Given the description of an element on the screen output the (x, y) to click on. 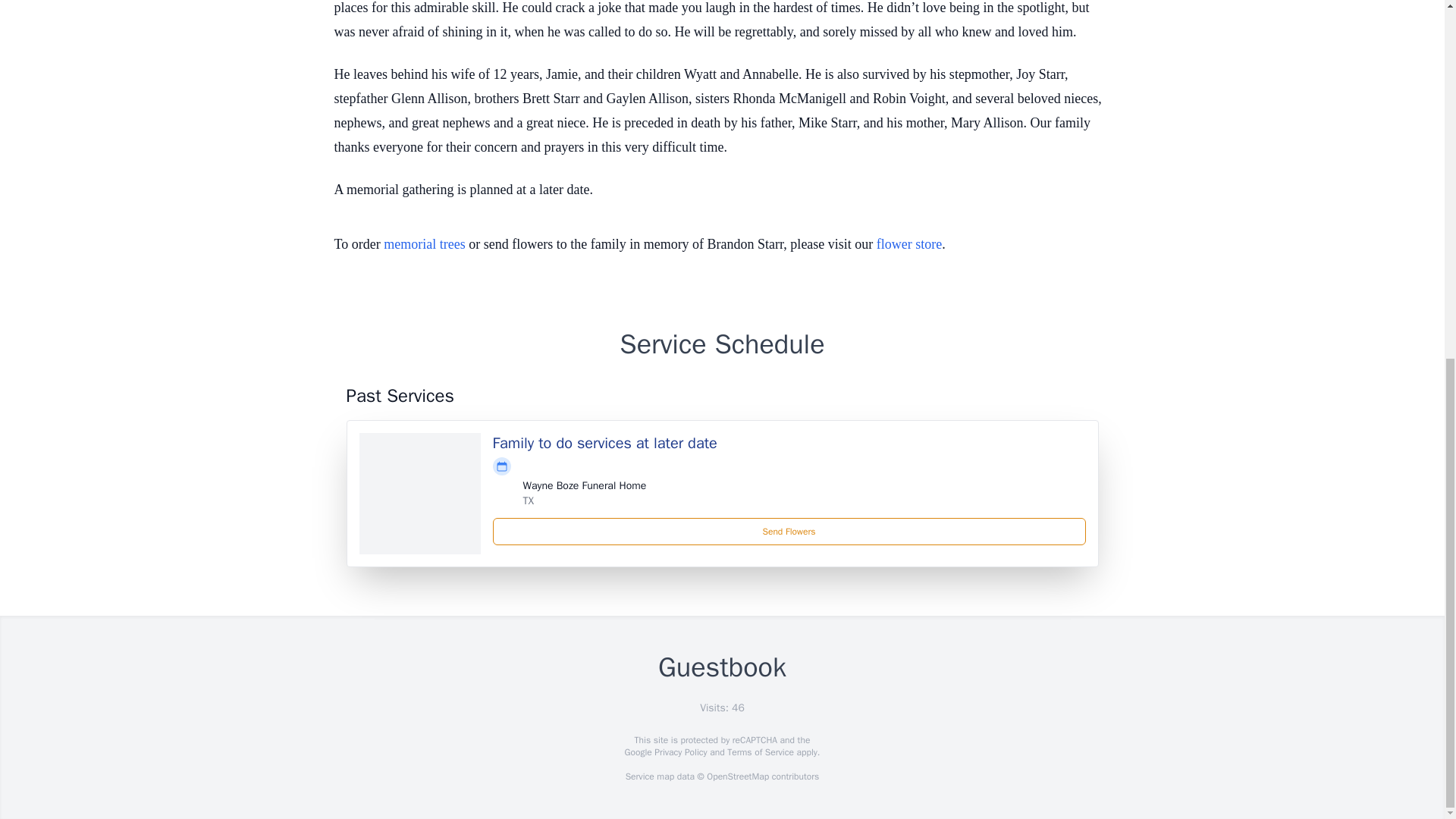
Terms of Service (759, 752)
Send Flowers (789, 531)
flower store (909, 243)
memorial trees (424, 243)
Privacy Policy (679, 752)
OpenStreetMap (737, 776)
